Given the description of an element on the screen output the (x, y) to click on. 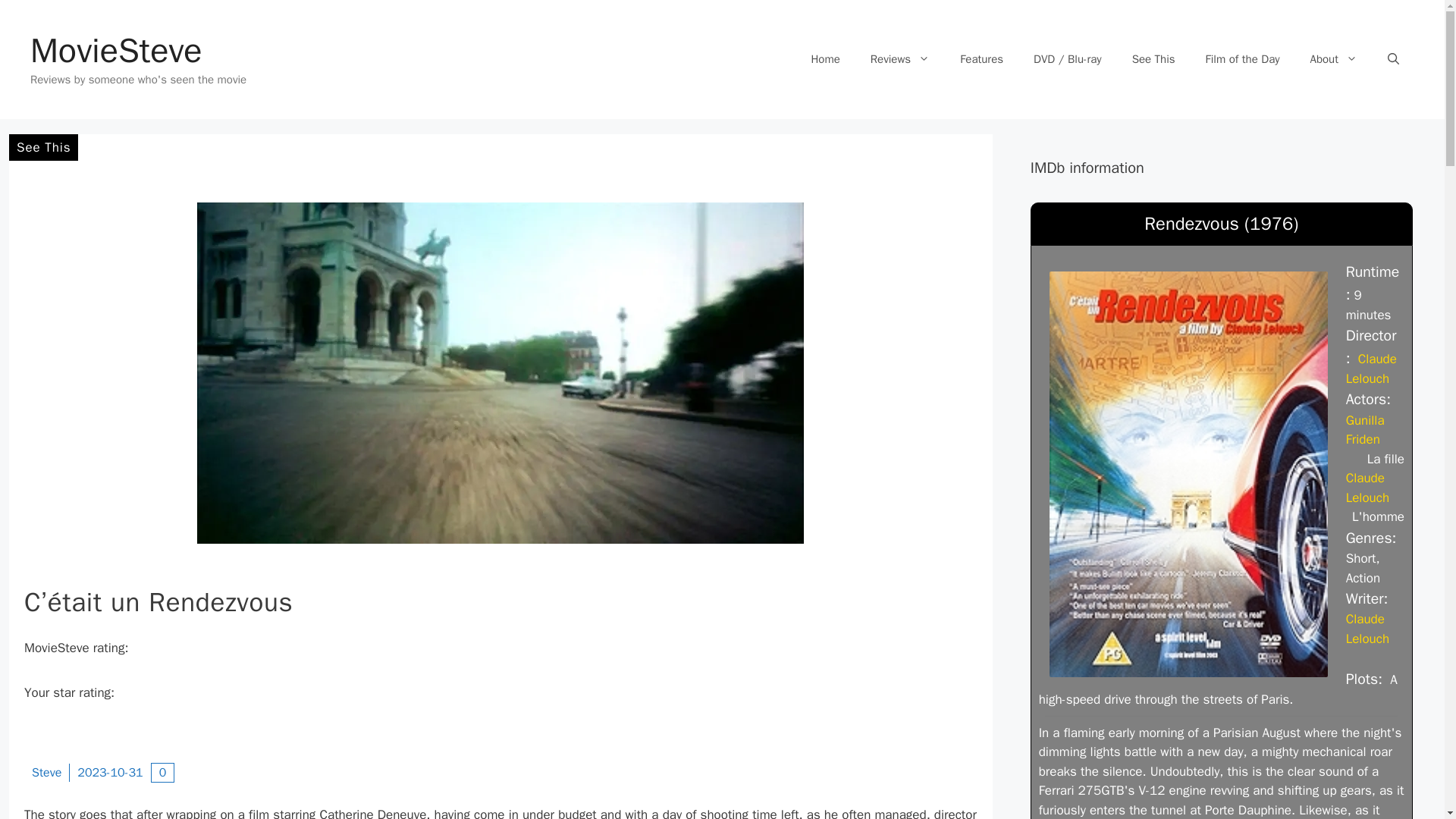
See This (43, 146)
MovieSteve (116, 50)
See This (1153, 58)
Film of the Day (1243, 58)
Claude Lelouch (1367, 488)
open a new window with IMDb informations (1370, 368)
open a new window with IMDb informations (1364, 429)
Features (980, 58)
Claude Lelouch (1370, 368)
Rendezvous (1188, 473)
Home (824, 58)
open a new window with IMDb informations (1367, 628)
open a new window with IMDb informations (1367, 488)
About (1334, 58)
Gunilla Friden (1364, 429)
